Given the description of an element on the screen output the (x, y) to click on. 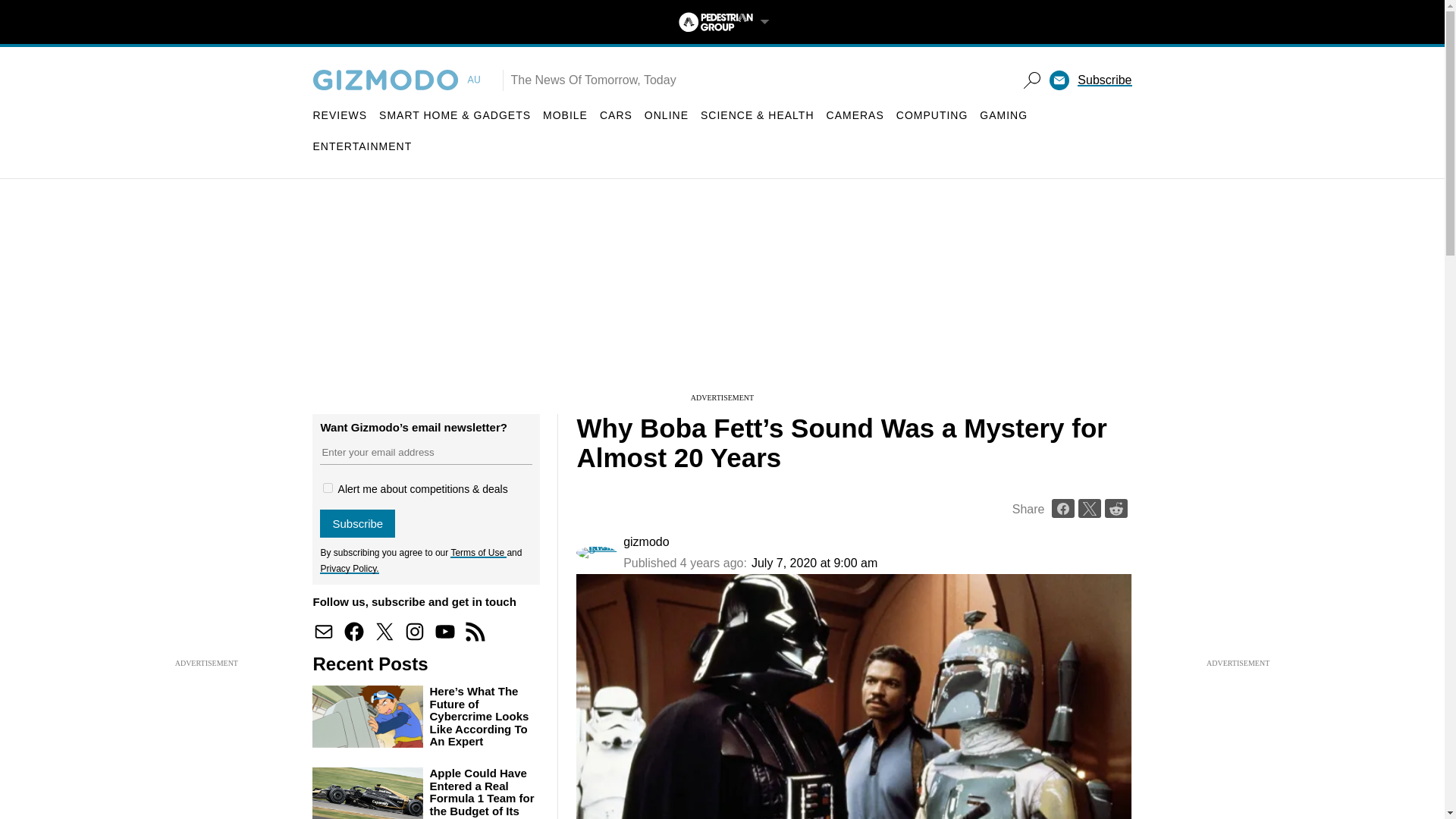
3rd party ad content (721, 296)
COMPUTING (932, 115)
GAMING (1003, 115)
Subscribe (1104, 79)
MOBILE (565, 115)
CAMERAS (855, 115)
Subscribe (357, 523)
CARS (615, 115)
ENTERTAINMENT (362, 145)
ONLINE (666, 115)
REVIEWS (339, 115)
